Given the description of an element on the screen output the (x, y) to click on. 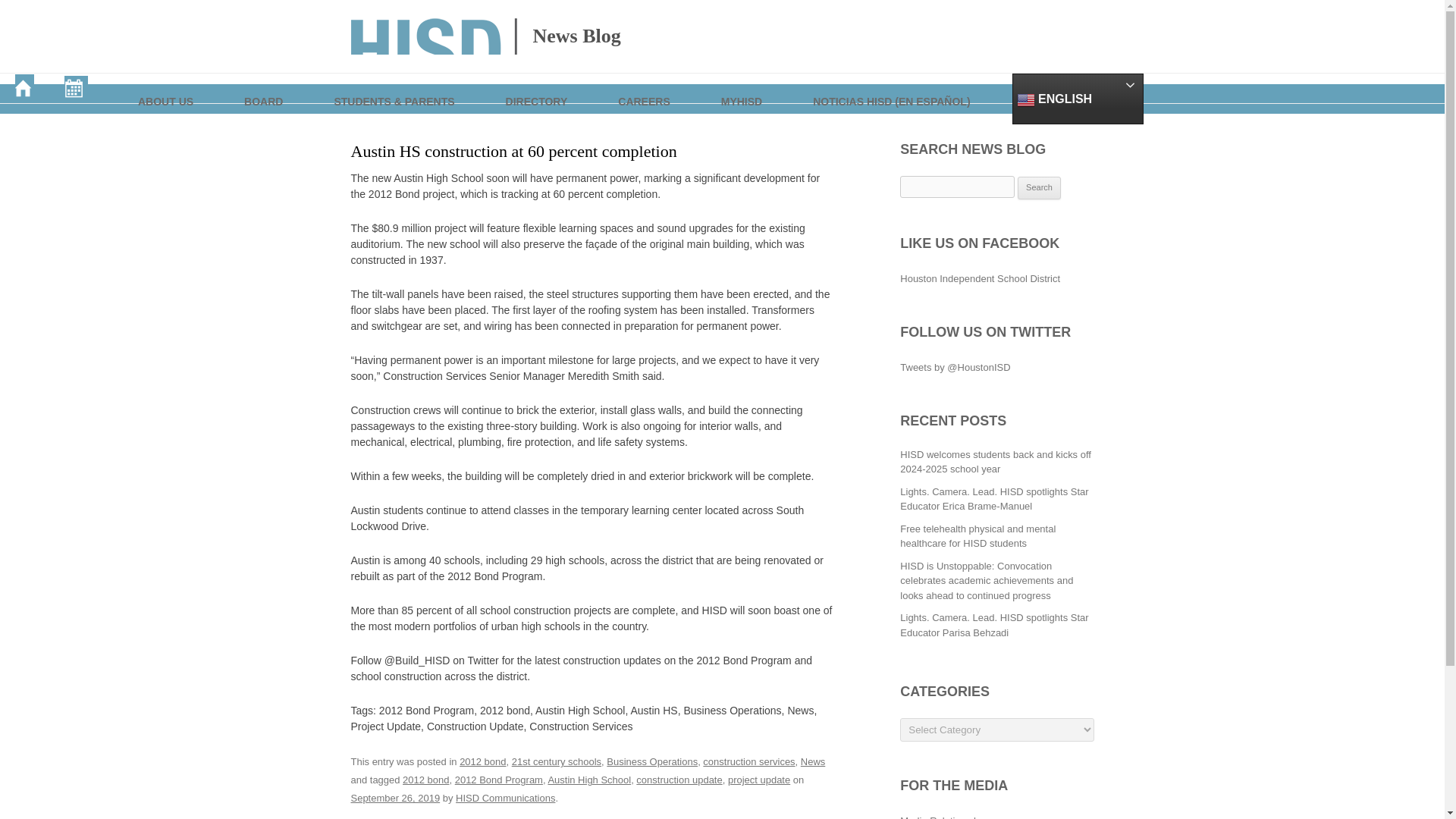
Search (1039, 187)
2012 bond (482, 761)
HISD Communications (504, 797)
2012 Bond Program (498, 779)
10:22 am (394, 797)
DIRECTORY (537, 88)
September 26, 2019 (394, 797)
News (812, 761)
construction services (748, 761)
